Given the description of an element on the screen output the (x, y) to click on. 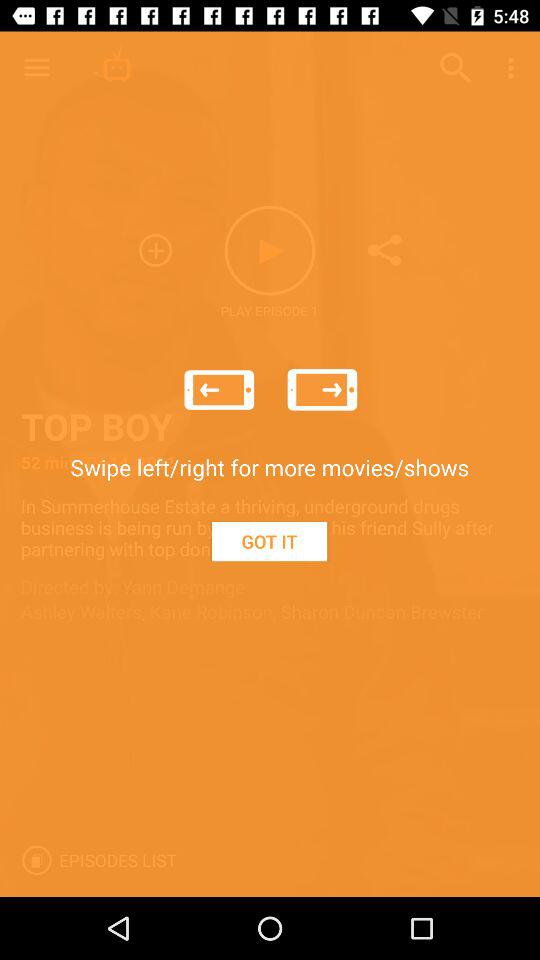
choose item below the swipe left right (269, 541)
